Given the description of an element on the screen output the (x, y) to click on. 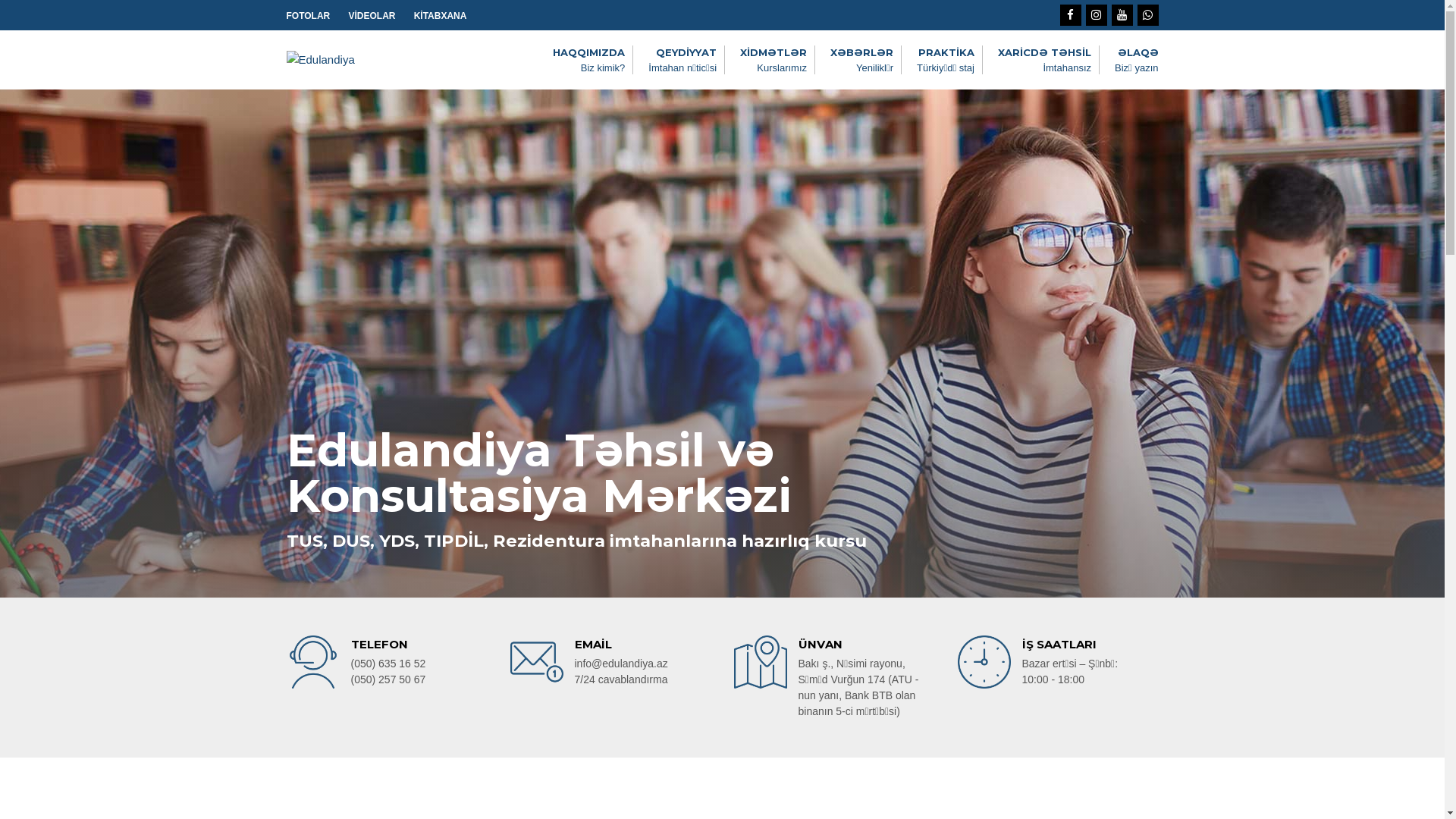
VIDEOLAR Element type: text (371, 16)
info@edulandiya.az Element type: text (621, 663)
(050) 635 16 52 Element type: text (387, 663)
(050) 257 50 67 Element type: text (387, 679)
FOTOLAR Element type: text (308, 16)
HAQQIMIZDA
Biz kimik? Element type: text (588, 60)
KITABXANA Element type: text (440, 16)
